Given the description of an element on the screen output the (x, y) to click on. 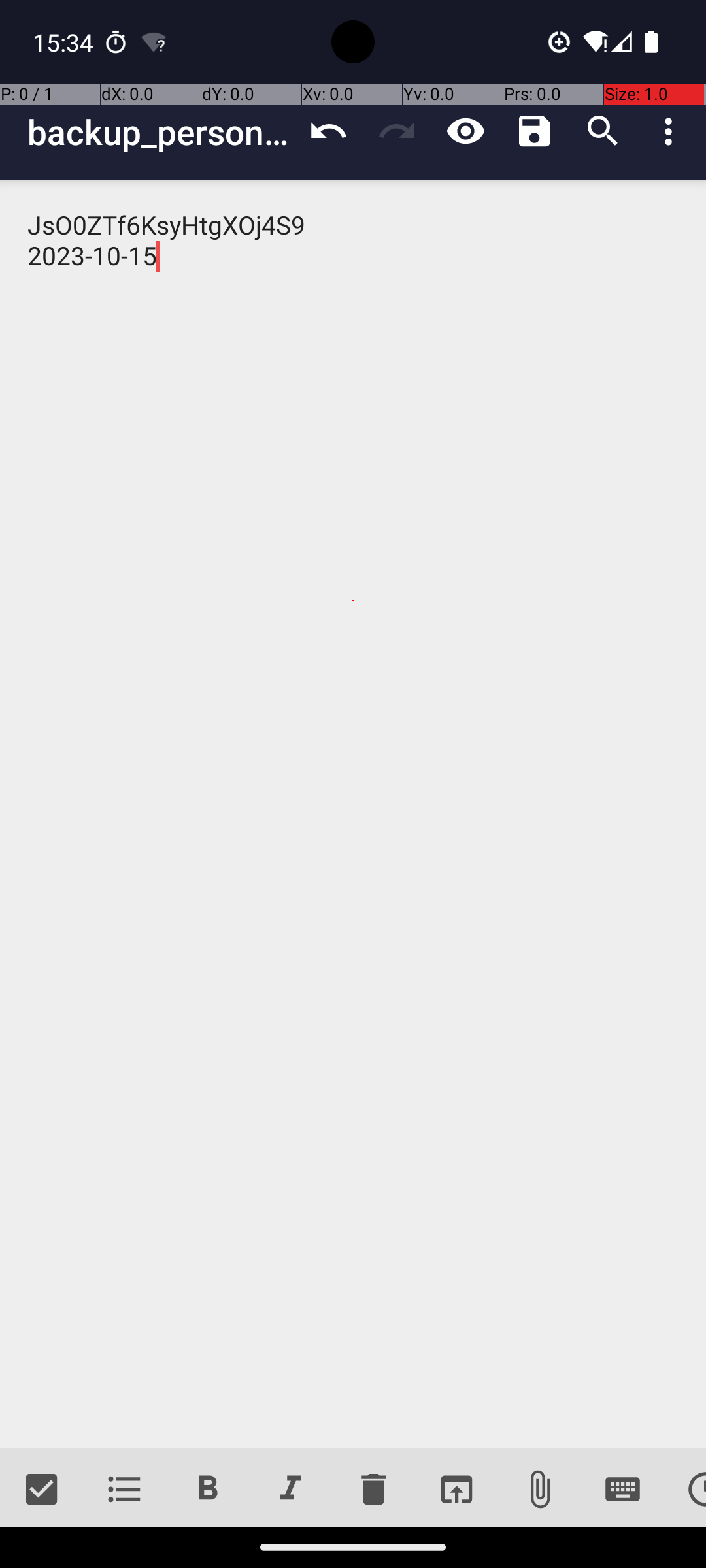
backup_personal_goals_2024 Element type: android.widget.TextView (160, 131)
JsO0ZTf6KsyHtgXOj4S9
2023-10-15 Element type: android.widget.EditText (353, 813)
